Given the description of an element on the screen output the (x, y) to click on. 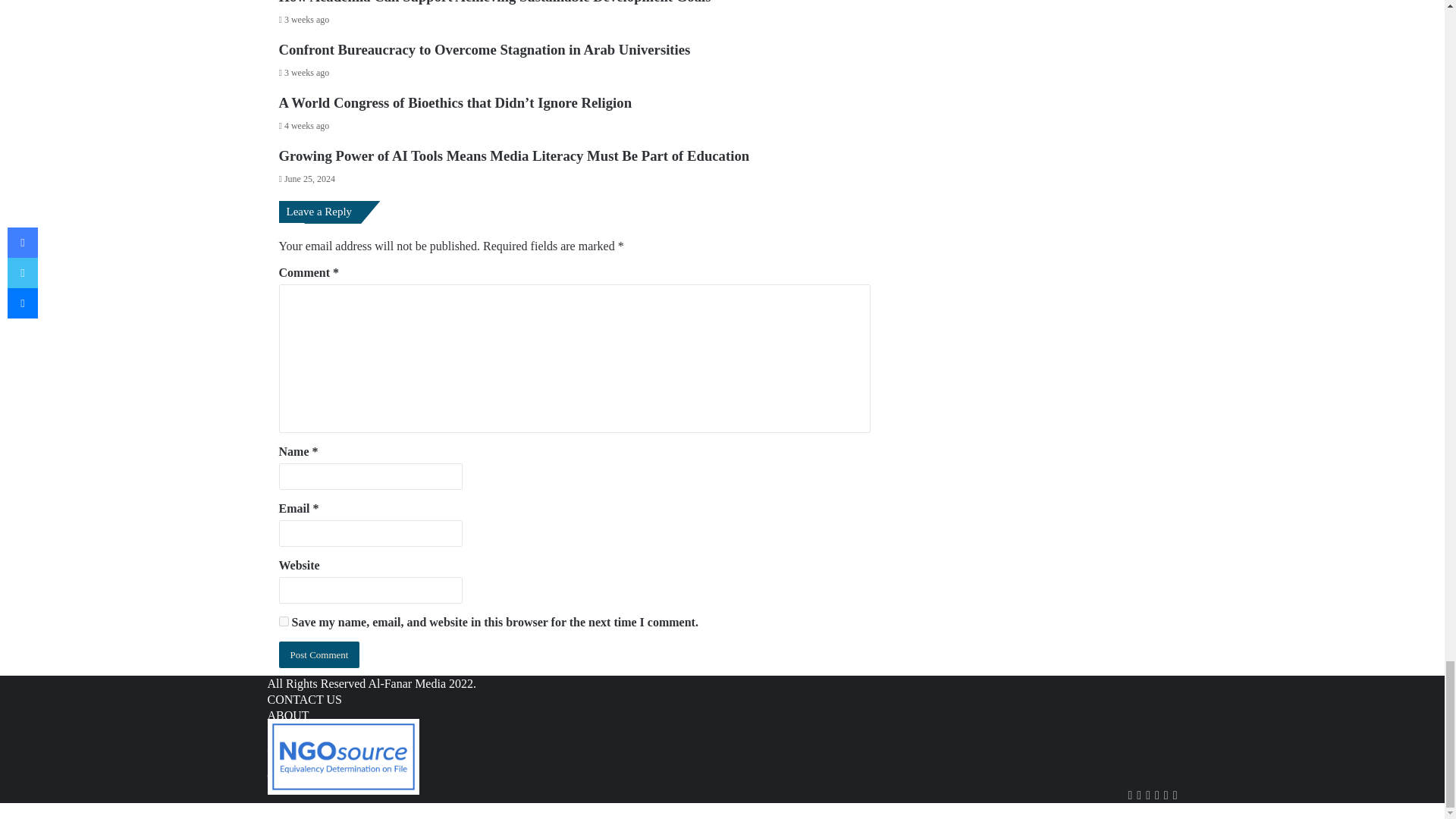
Post Comment (319, 654)
yes (283, 621)
